Given the description of an element on the screen output the (x, y) to click on. 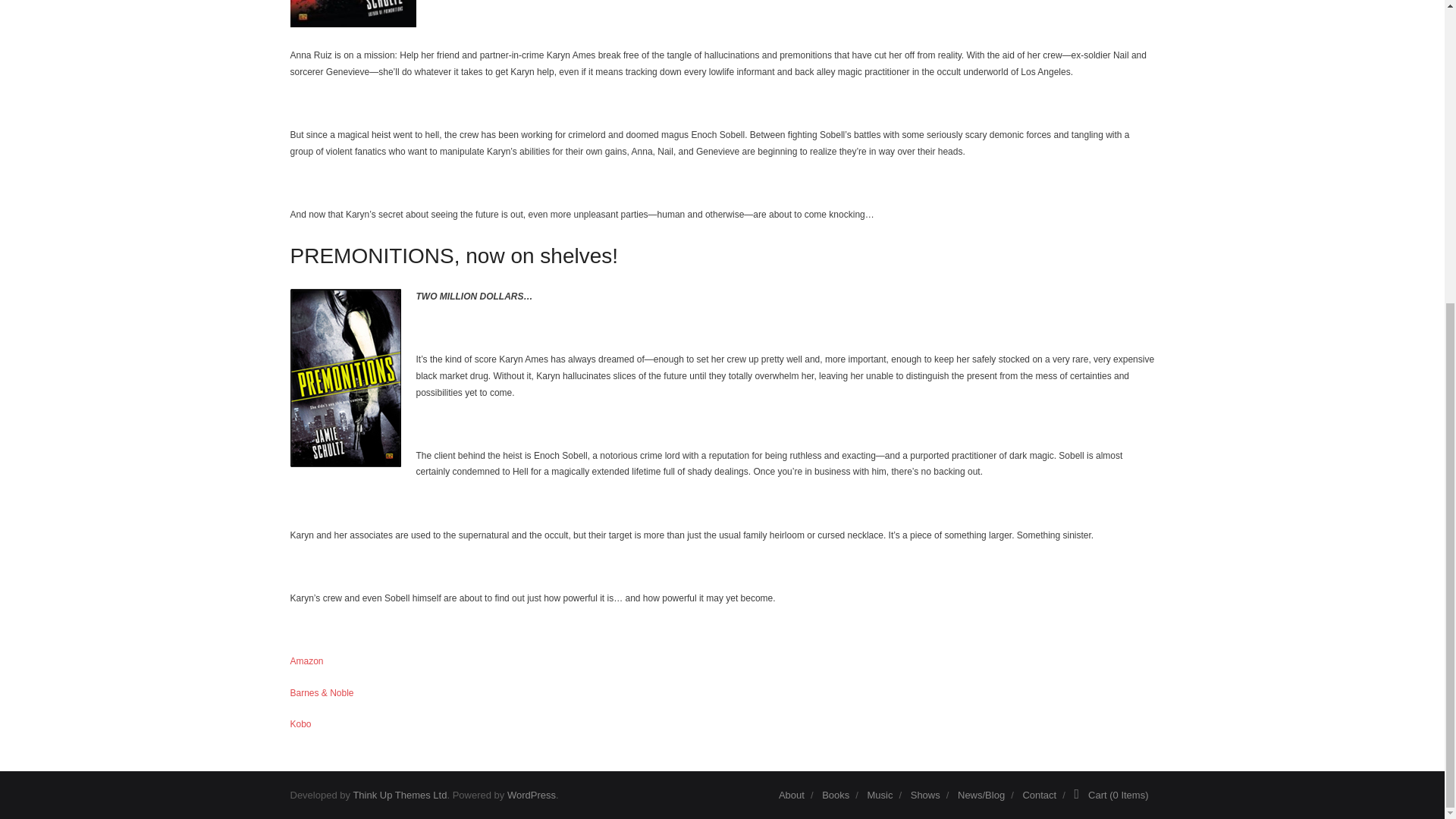
Kobo (300, 724)
Think Up Themes Ltd (399, 794)
Contact (1039, 794)
Music (880, 794)
Shows (925, 794)
Start shopping (1110, 794)
Amazon (306, 661)
About (791, 794)
WordPress (531, 794)
Books (835, 794)
